Given the description of an element on the screen output the (x, y) to click on. 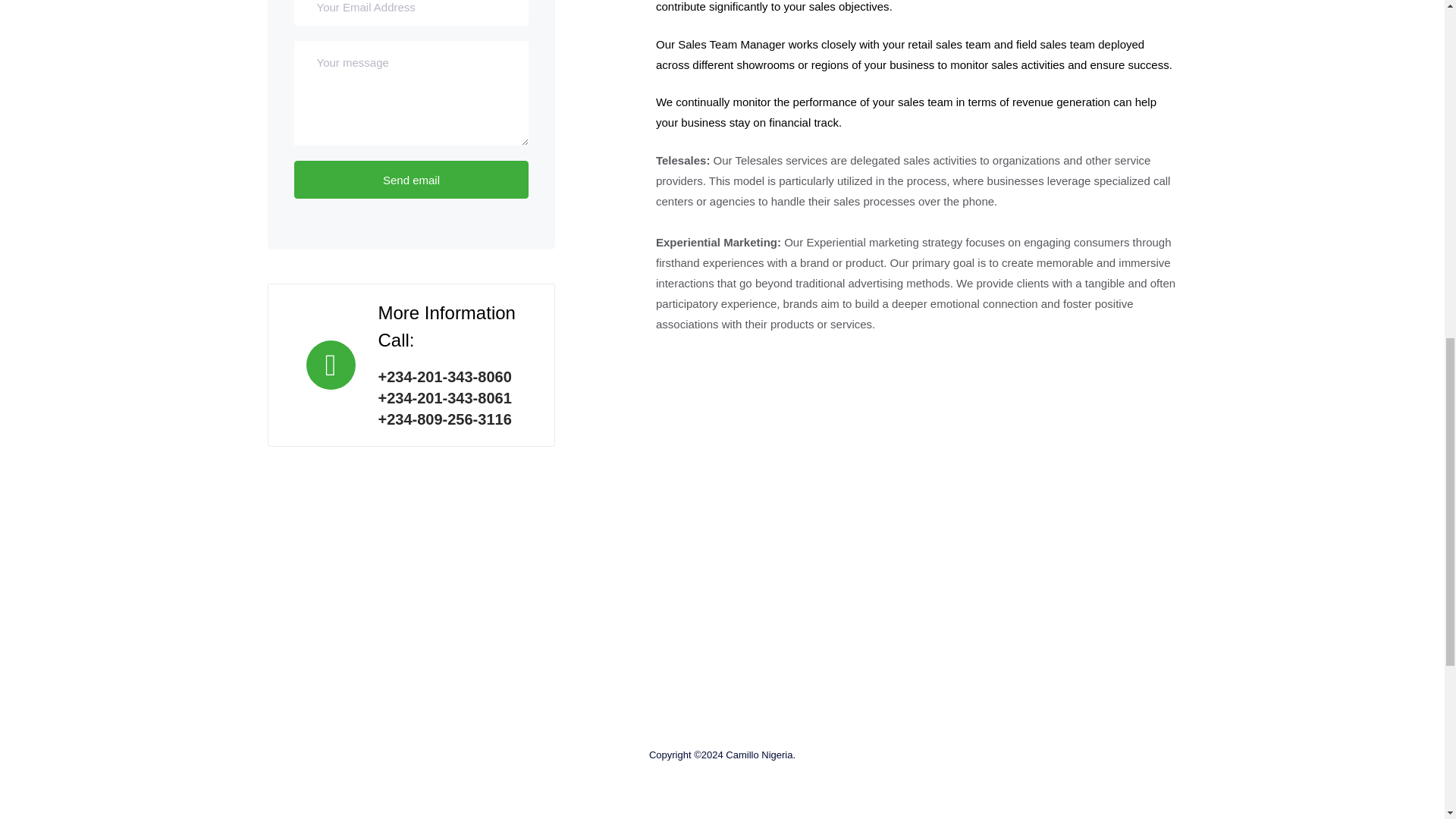
Send email (411, 179)
Send email (411, 179)
